Given the description of an element on the screen output the (x, y) to click on. 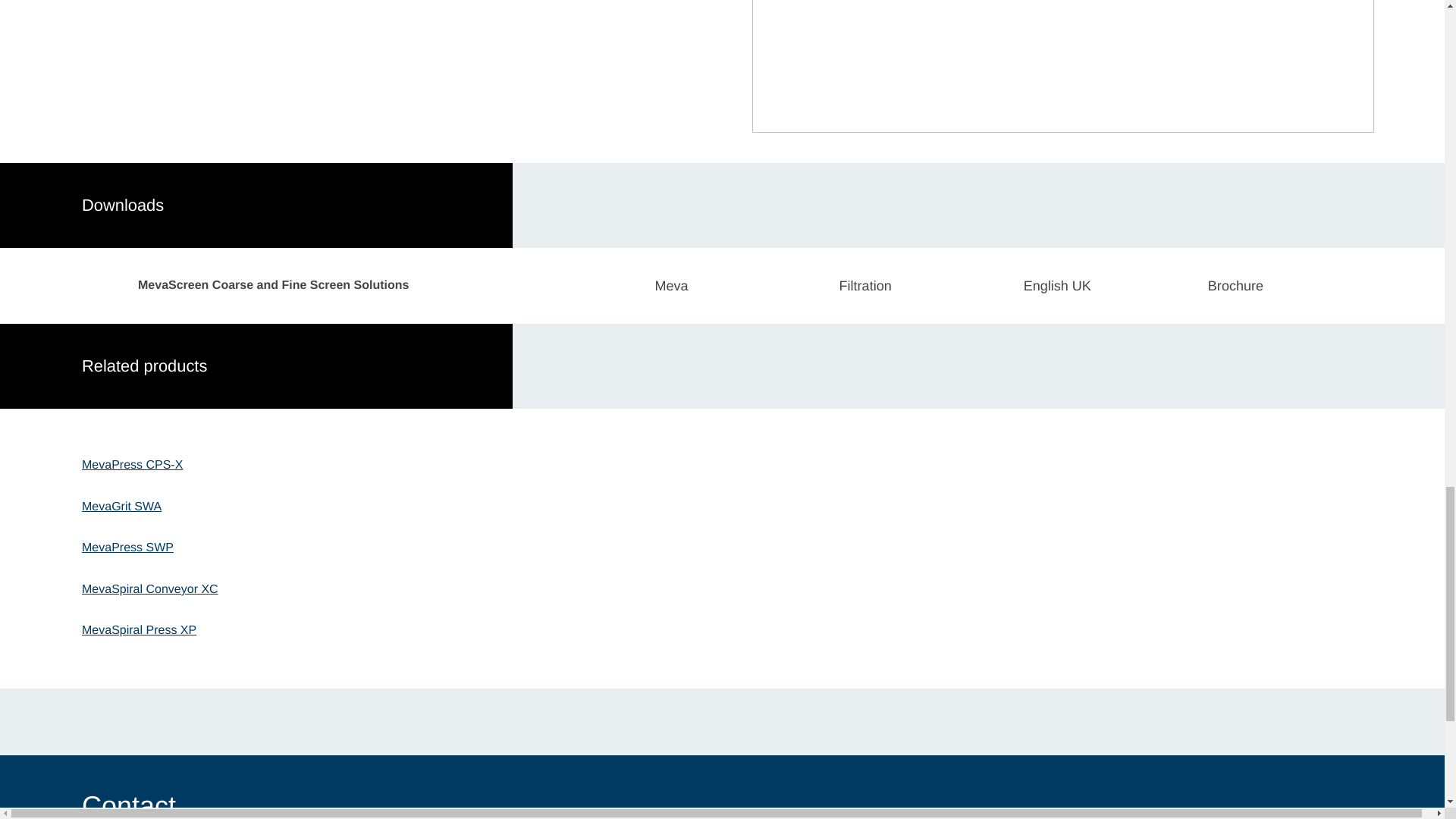
MevaPress CPS-X (132, 465)
MevaPress SWP (127, 548)
MevaSpiral Press XP (138, 630)
MevaSpiral Conveyor XC (149, 589)
MevaGrit SWA (121, 507)
